Given the description of an element on the screen output the (x, y) to click on. 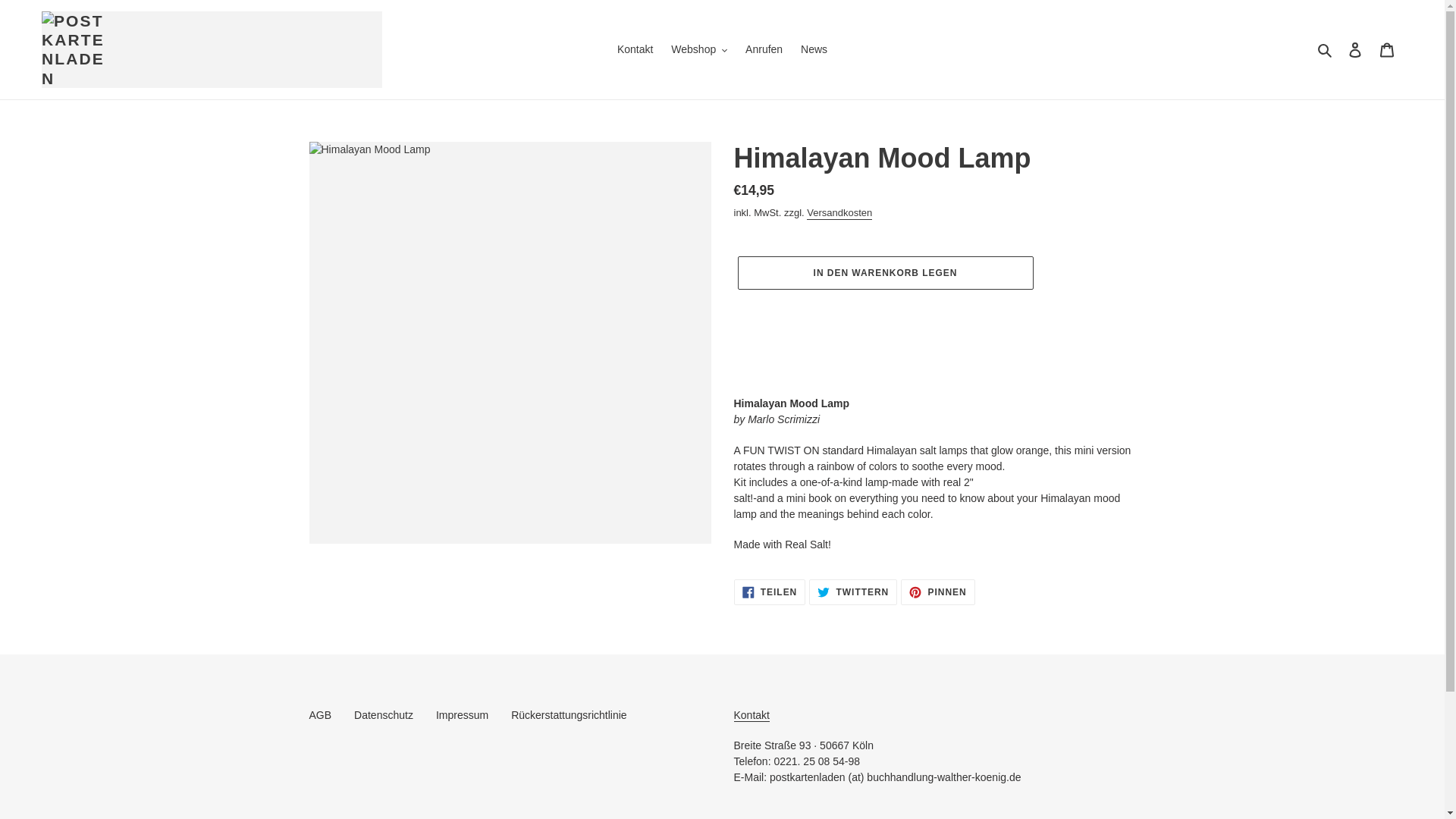
News (813, 49)
Suchen (1326, 49)
Anrufen (764, 49)
Warenkorb (1387, 49)
Kontakt (751, 715)
Kontakt (635, 49)
Einloggen (1355, 49)
Webshop (699, 49)
